Given the description of an element on the screen output the (x, y) to click on. 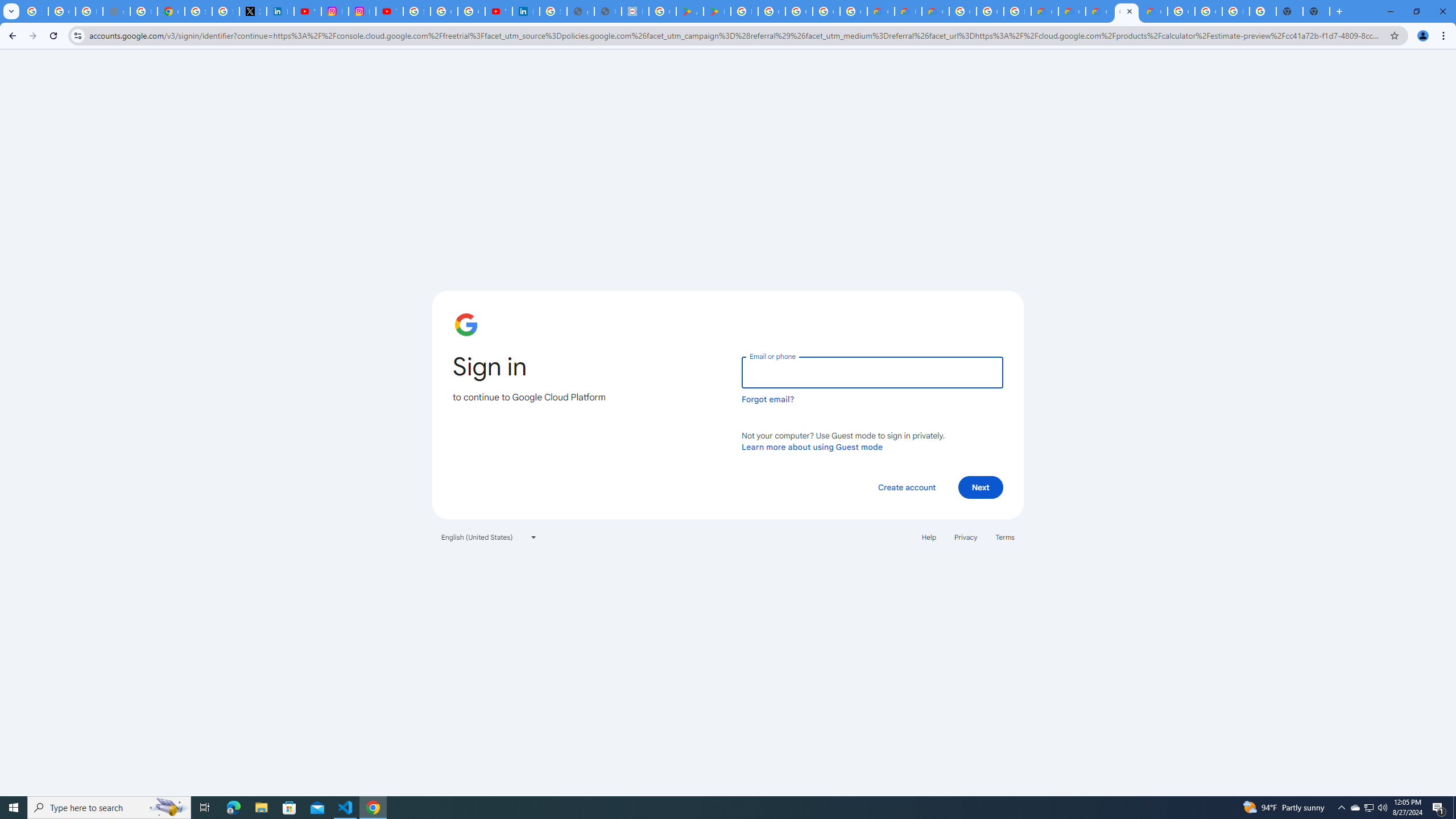
Data Privacy Framework (634, 11)
Google Cloud Platform (1126, 11)
Next (980, 486)
Forgot email? (767, 398)
Google Workspace - Specific Terms (853, 11)
Google Cloud Estimate Summary (1099, 11)
